Given the description of an element on the screen output the (x, y) to click on. 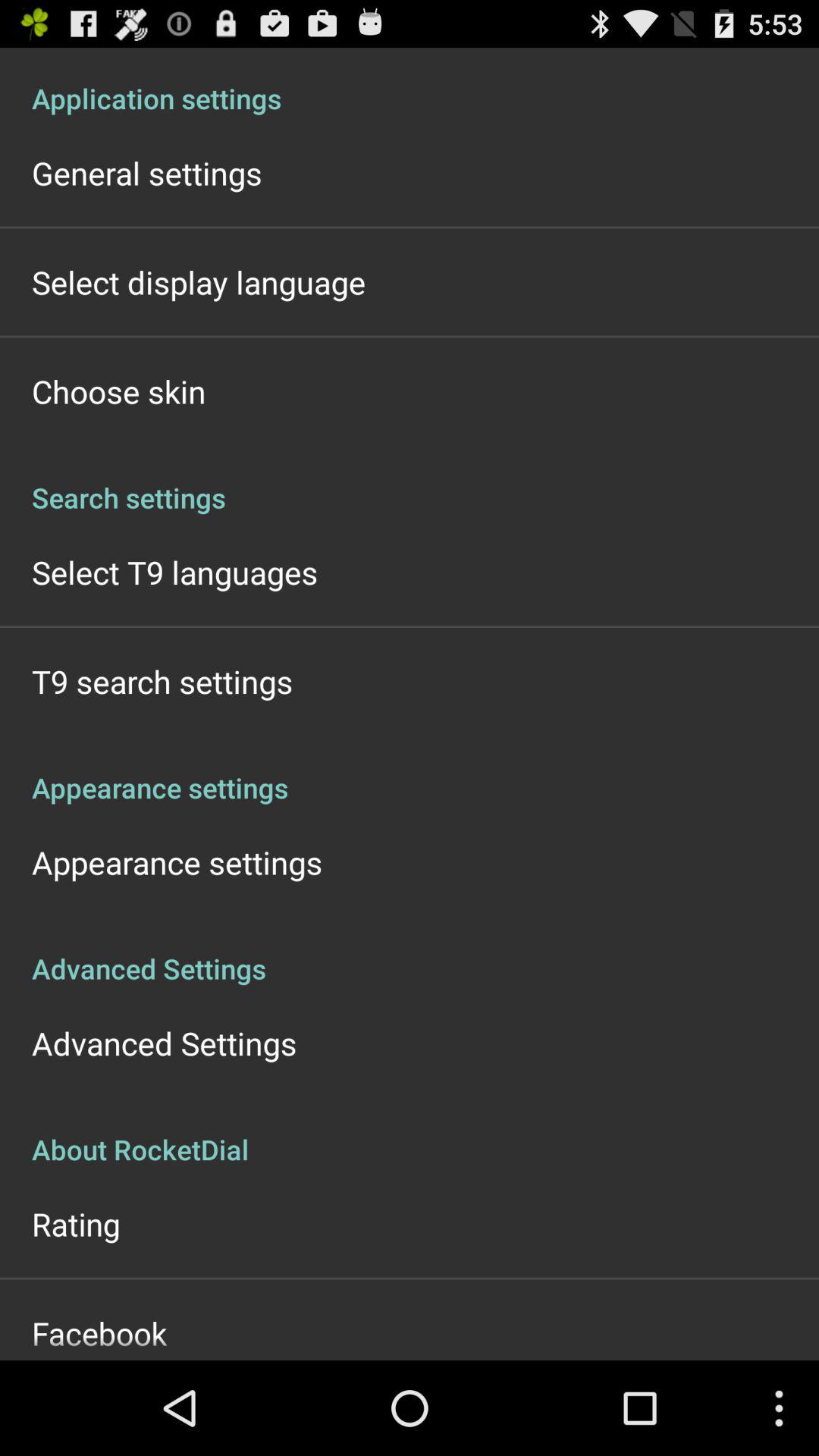
click the icon above the search settings app (118, 390)
